Given the description of an element on the screen output the (x, y) to click on. 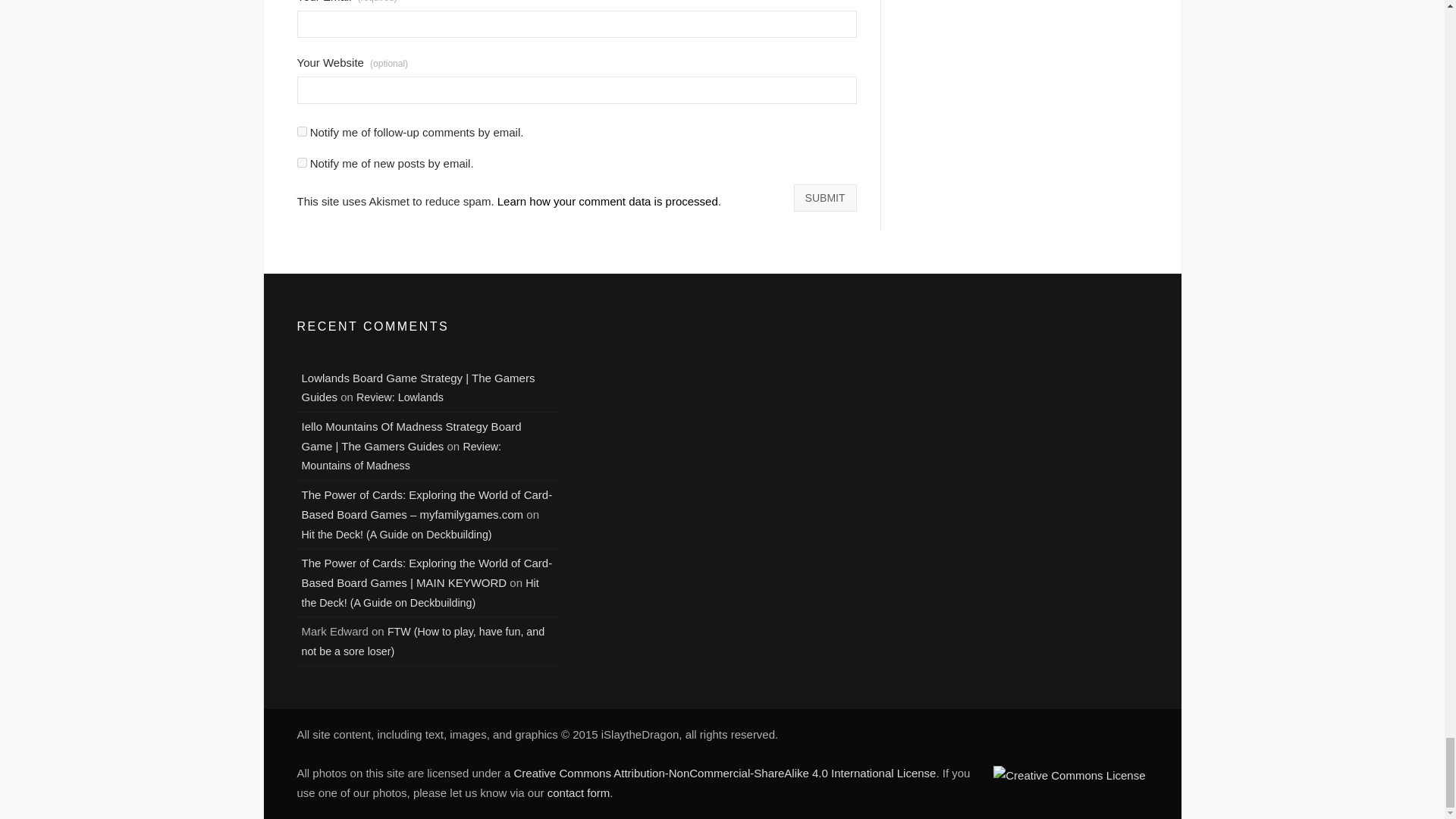
subscribe (302, 131)
Submit (825, 197)
subscribe (302, 162)
